Given the description of an element on the screen output the (x, y) to click on. 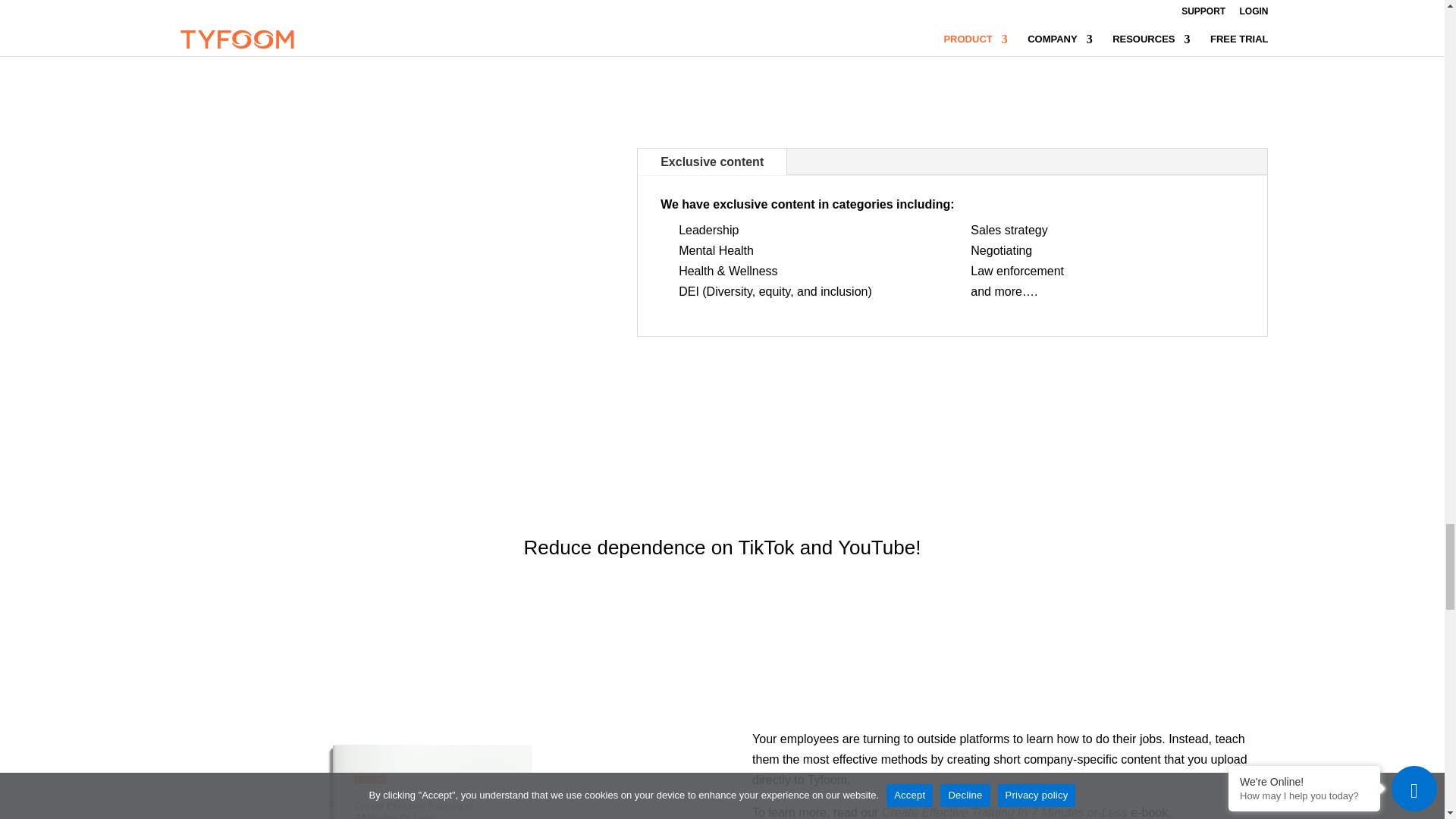
eBookMockup (433, 773)
